Given the description of an element on the screen output the (x, y) to click on. 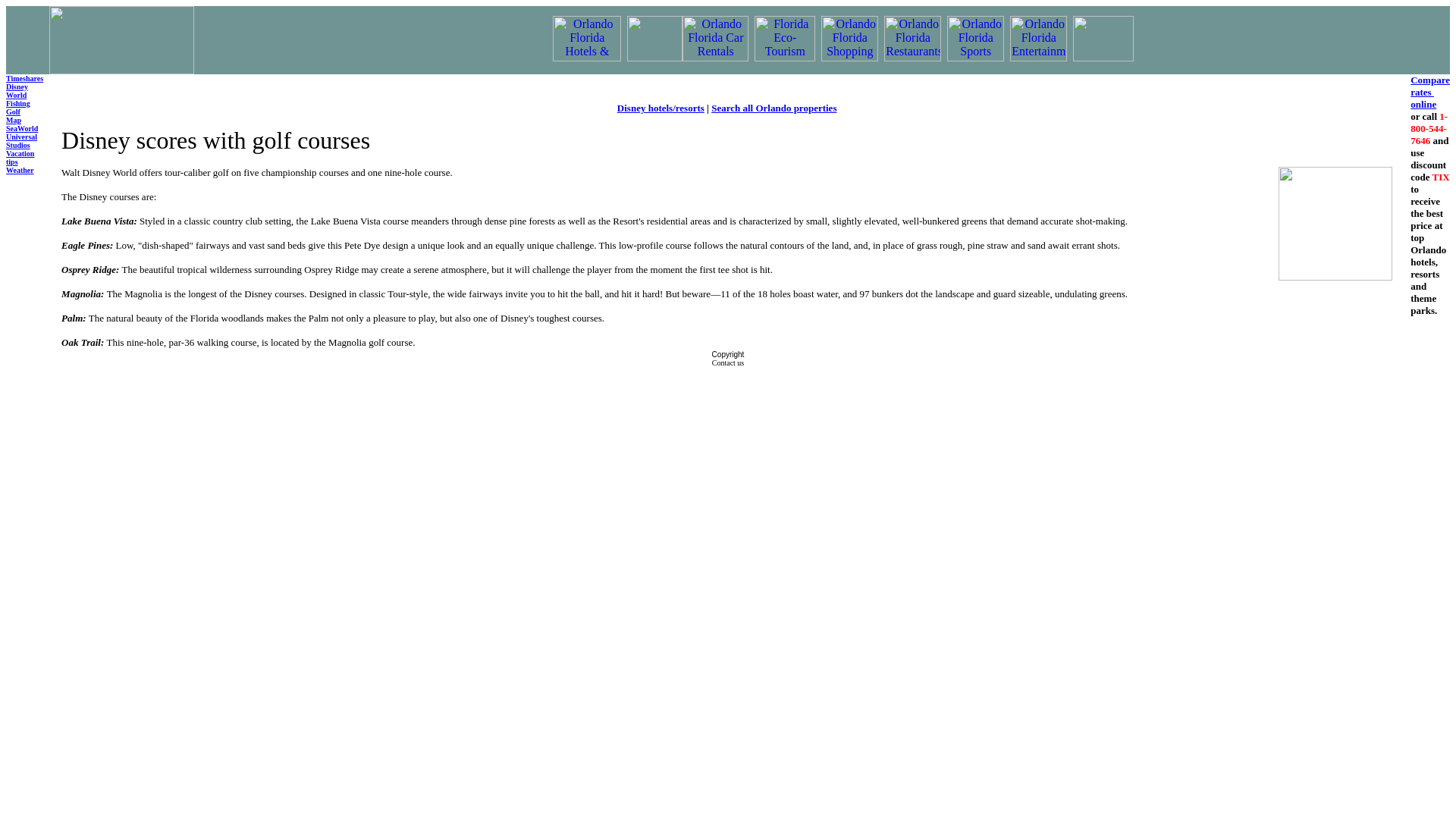
Map (13, 124)
Compare rates  online (1430, 90)
Disney World (16, 88)
Vacation tips (19, 157)
Search all Orlando properties (773, 107)
Fishing (17, 103)
Weather (24, 178)
Golf (12, 111)
Universal Studios (22, 145)
Timeshares (24, 78)
